Given the description of an element on the screen output the (x, y) to click on. 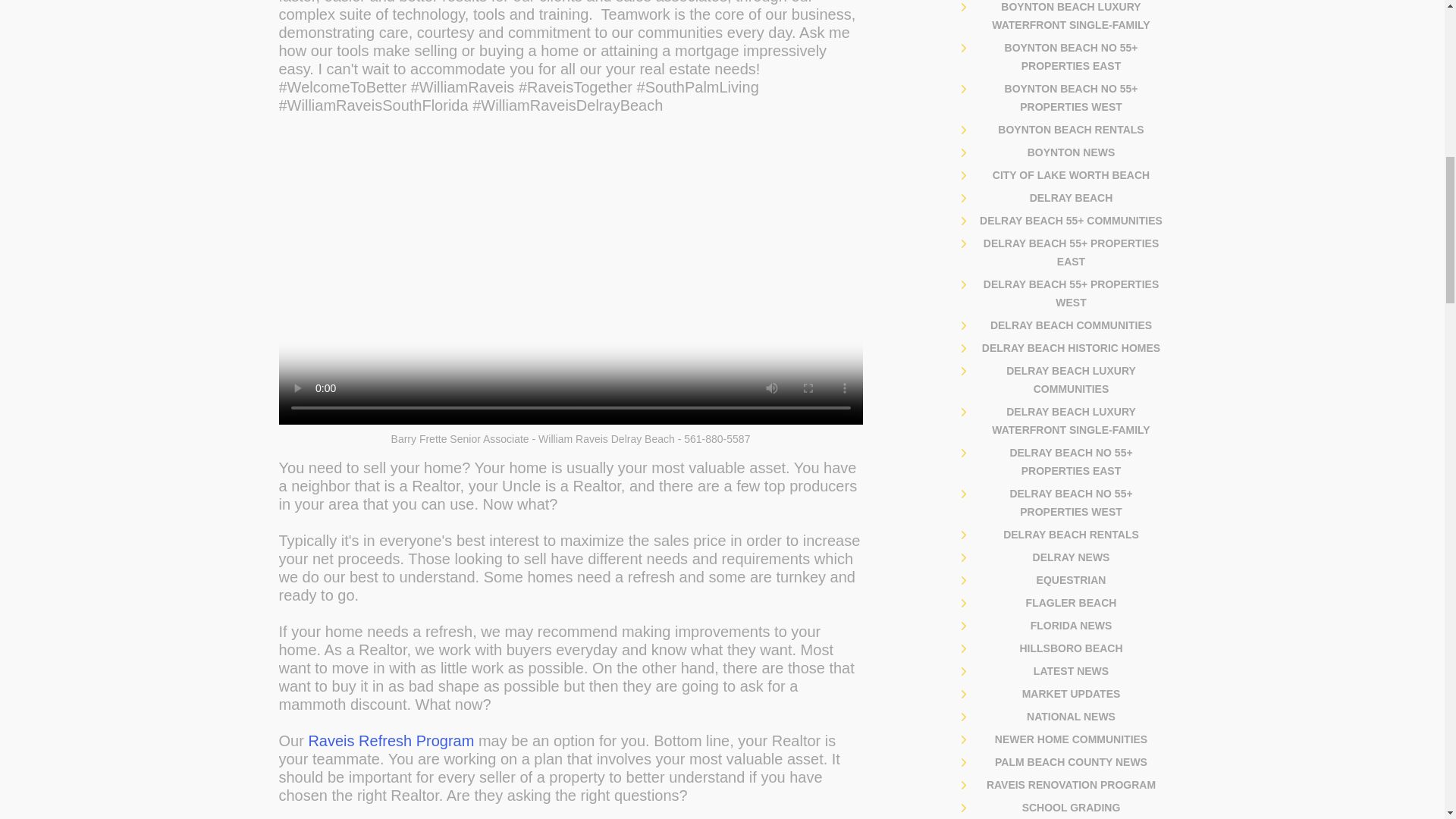
Raveis Refresh Program (390, 740)
